Given the description of an element on the screen output the (x, y) to click on. 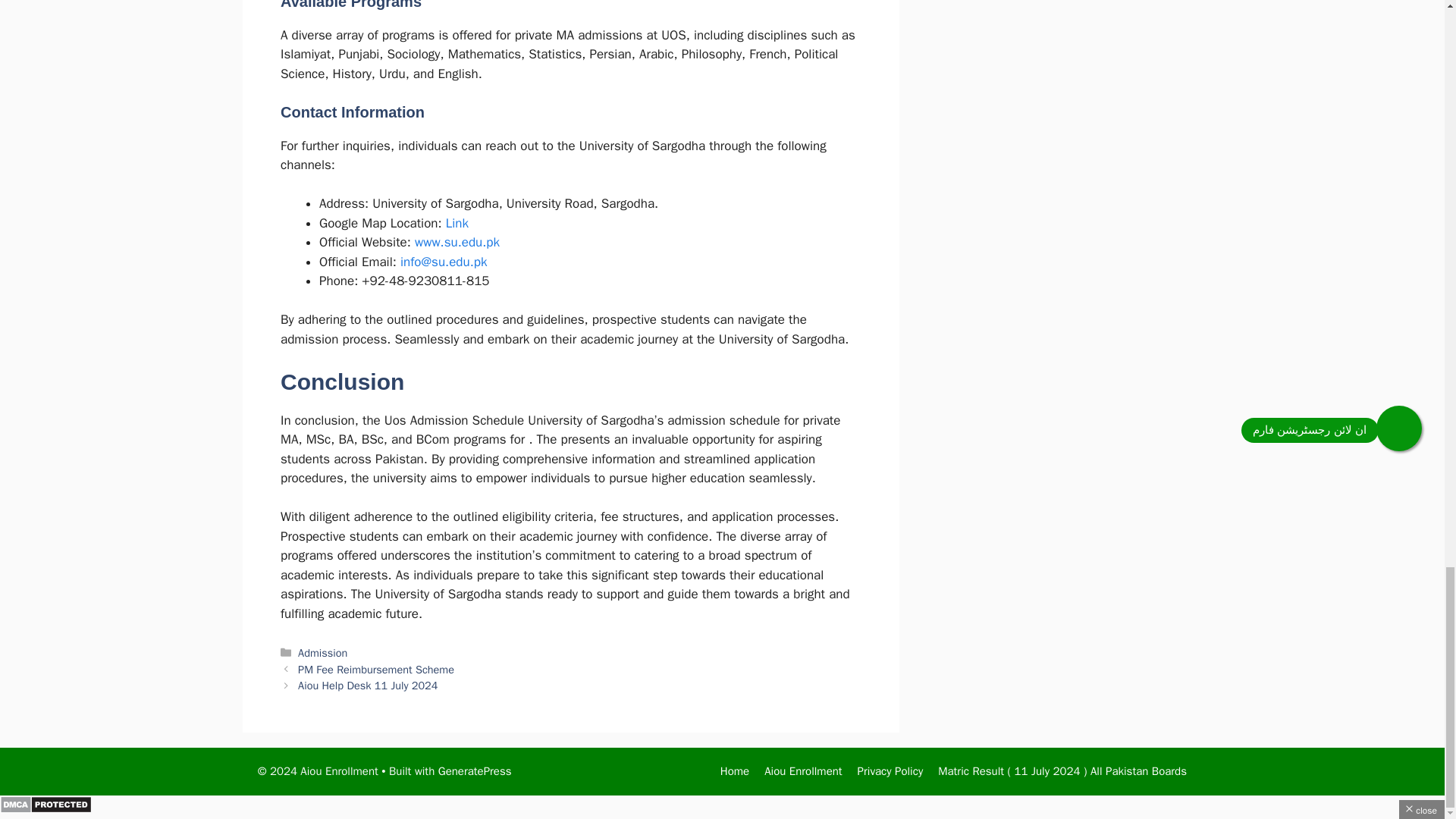
Aiou Help Desk 11 July 2024 (368, 685)
DMCA.com Protection Status (45, 809)
Link (456, 222)
www.su.edu.pk (456, 242)
Admission (322, 653)
PM Fee Reimbursement Scheme (376, 669)
